Given the description of an element on the screen output the (x, y) to click on. 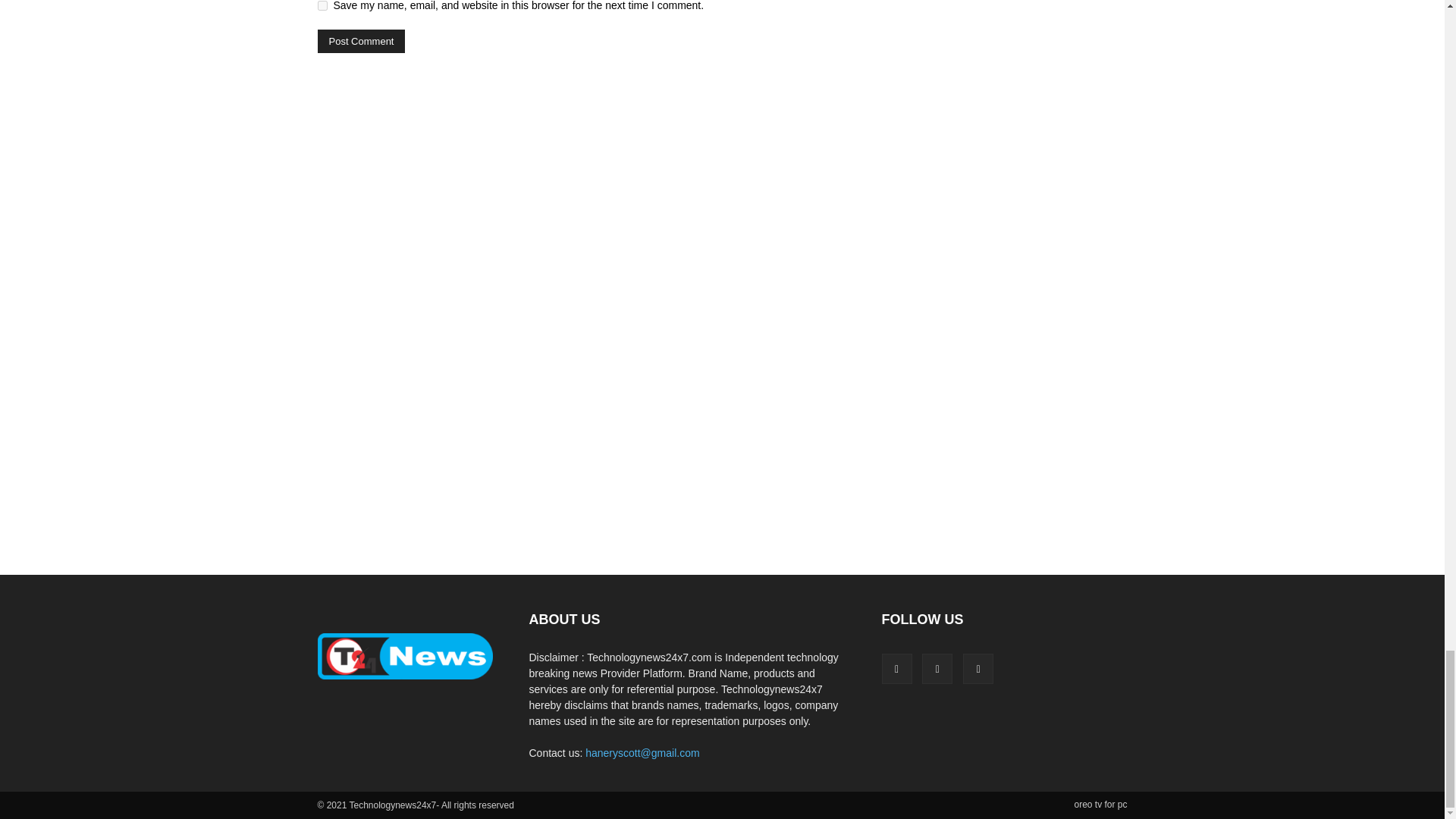
Post Comment (360, 41)
yes (321, 5)
